Given the description of an element on the screen output the (x, y) to click on. 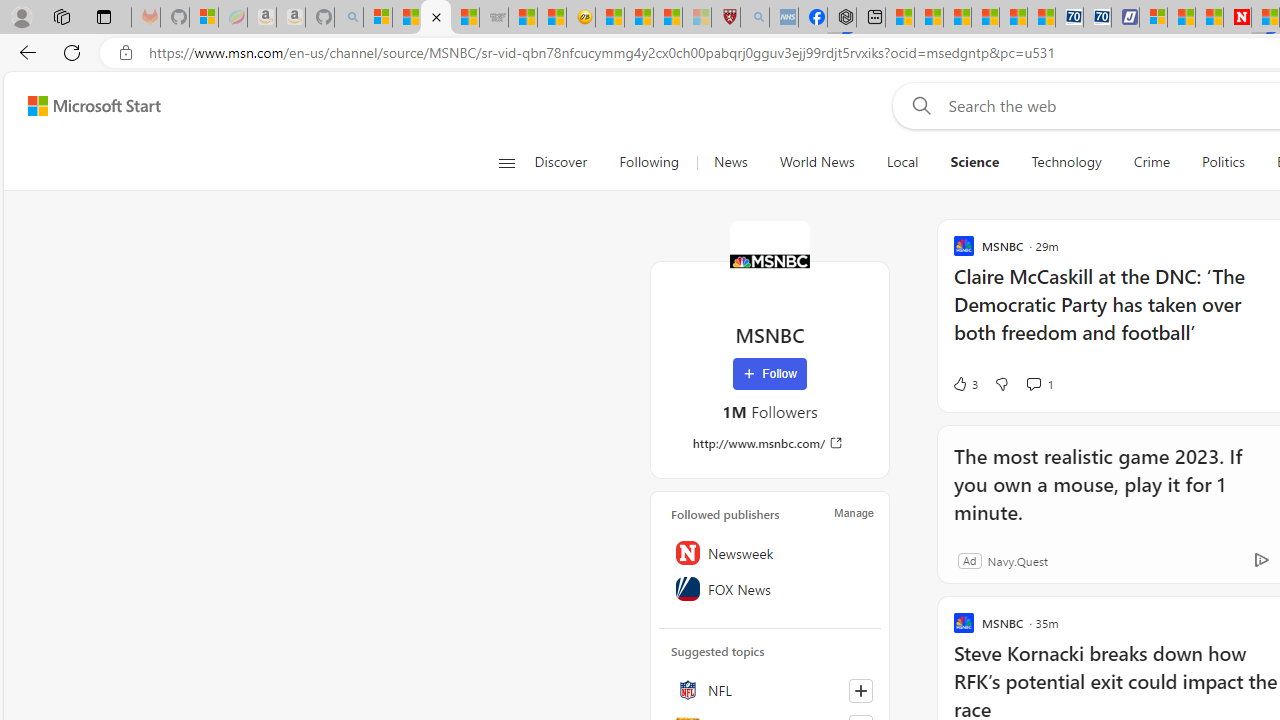
Cheap Hotels - Save70.com (1097, 17)
NFL (770, 690)
Manage (854, 512)
View comments 1 Comment (1039, 384)
MSNBC (769, 260)
